Given the description of an element on the screen output the (x, y) to click on. 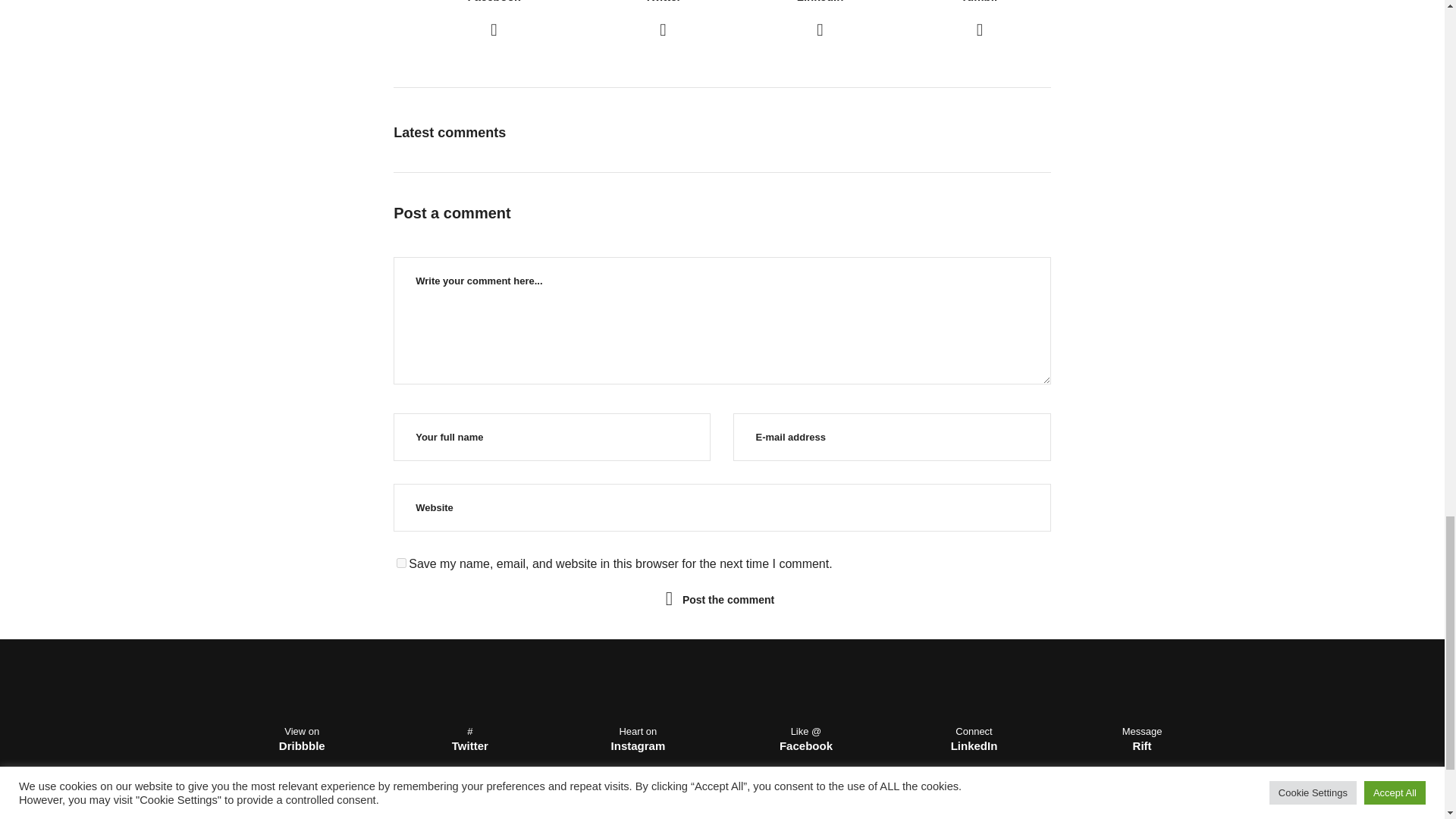
yes (820, 20)
Post the comment (979, 20)
Post the comment (493, 20)
